Given the description of an element on the screen output the (x, y) to click on. 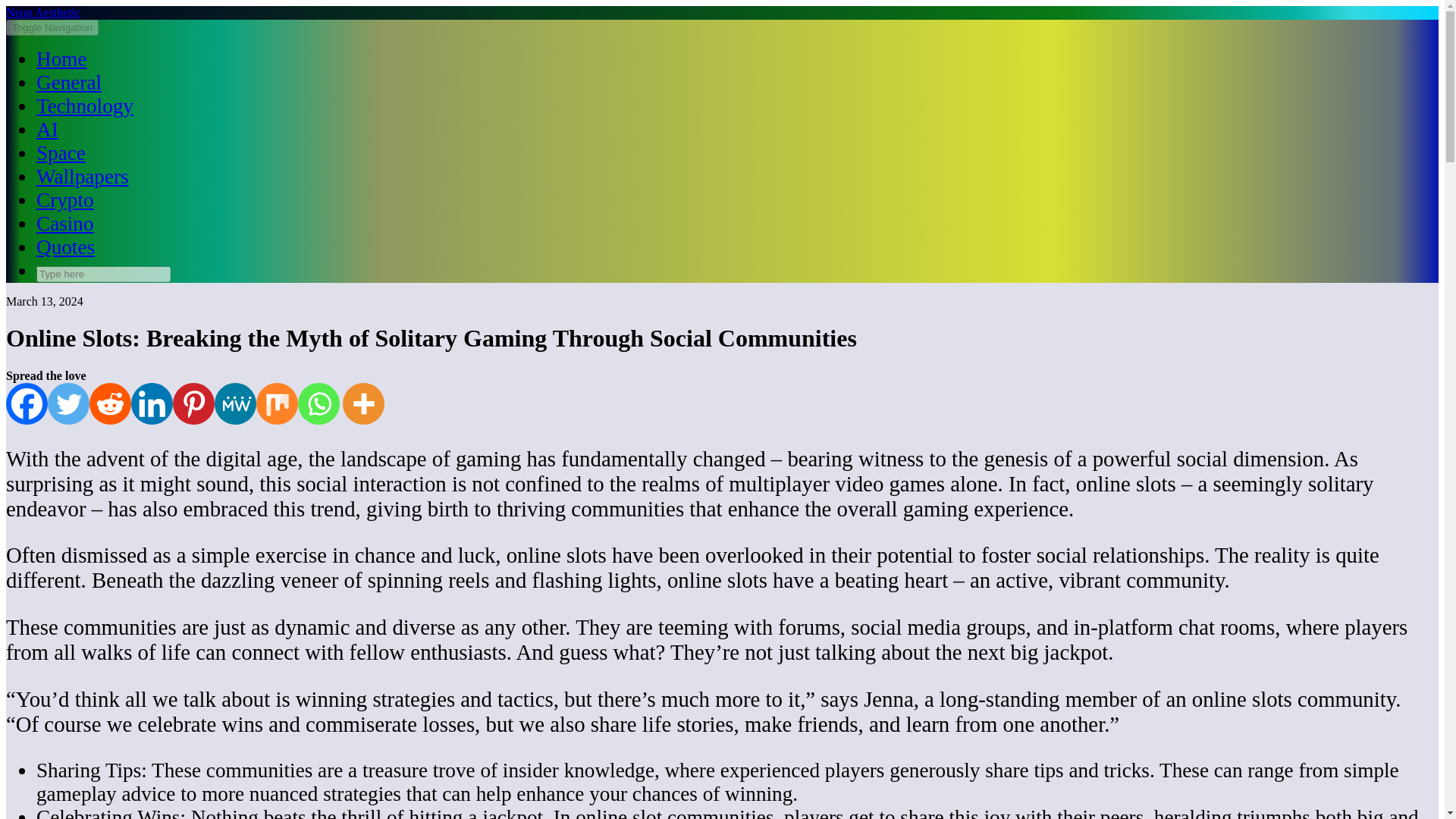
Technology (84, 106)
Space (60, 152)
General (68, 82)
Facebook (26, 404)
Home (60, 58)
AI (47, 128)
Reddit (109, 404)
Twitter (68, 404)
Mix (277, 404)
Toggle Navigation (52, 27)
